Given the description of an element on the screen output the (x, y) to click on. 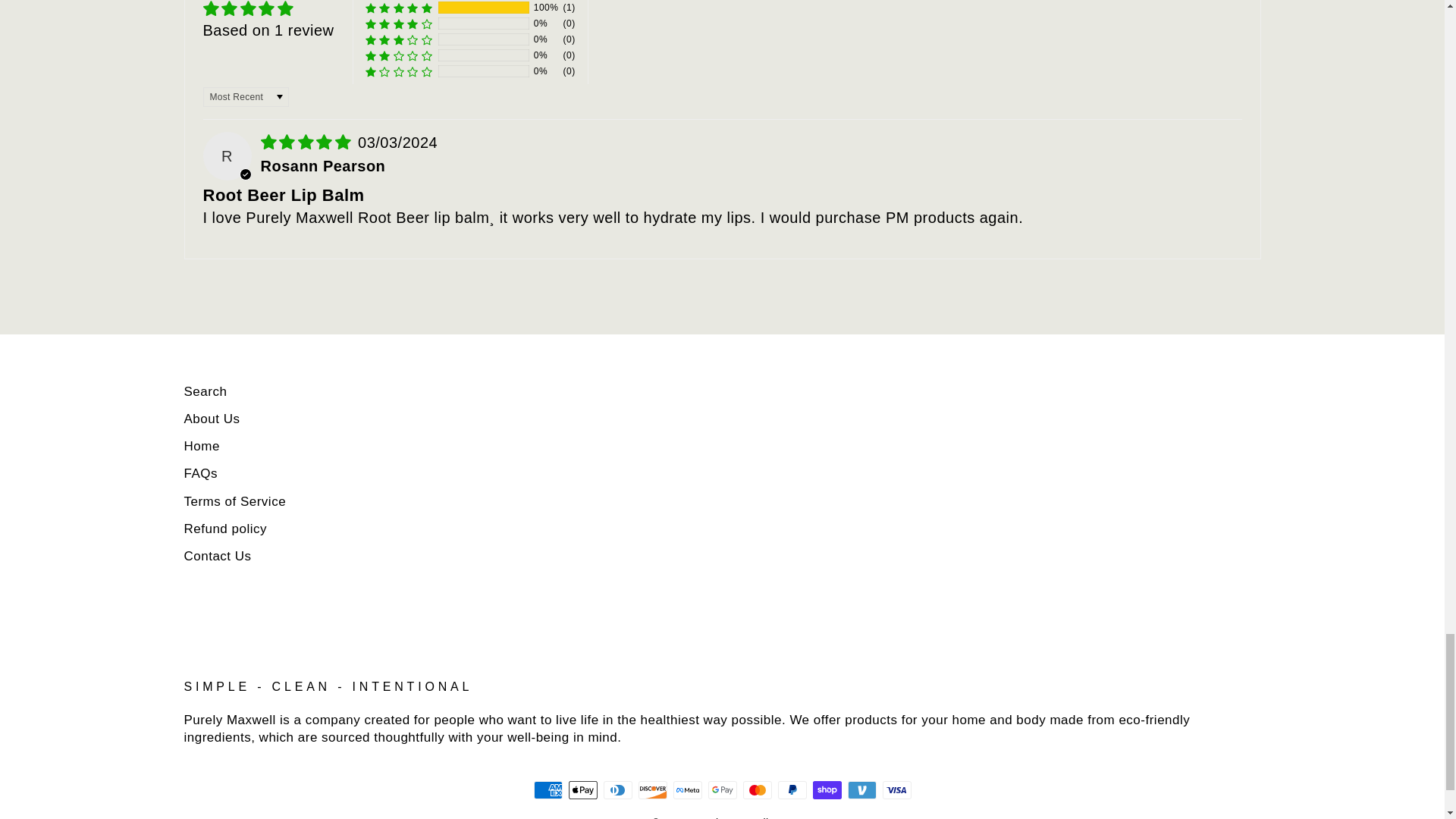
Diners Club (617, 790)
Mastercard (756, 790)
American Express (548, 790)
Google Pay (721, 790)
Meta Pay (686, 790)
Discover (652, 790)
Apple Pay (582, 790)
